Given the description of an element on the screen output the (x, y) to click on. 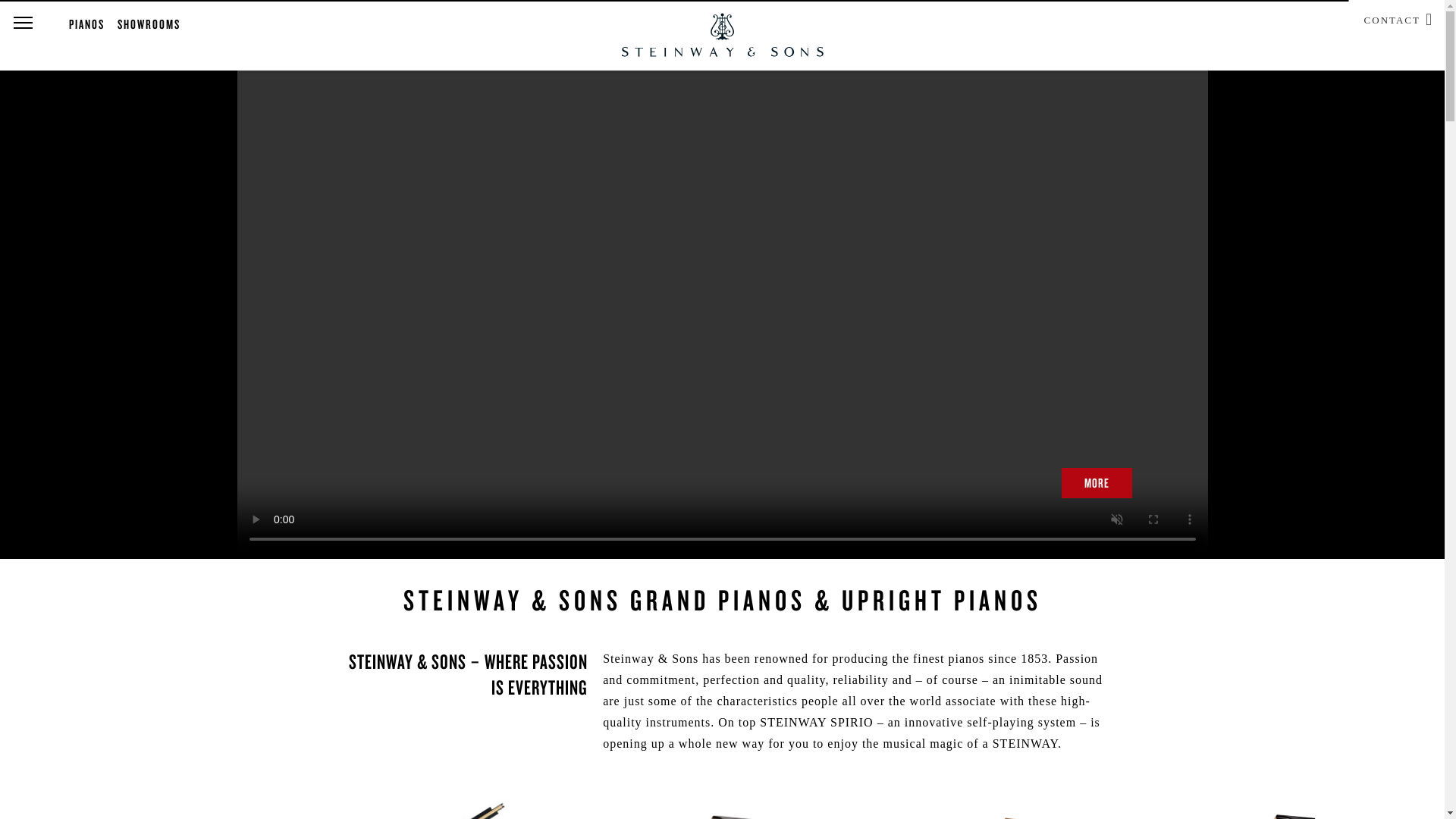
Crown Jewels (1001, 806)
PIANOS (86, 23)
K-132 (180, 805)
C-227 (1275, 805)
SHOWROOMS (148, 23)
D-274 (727, 805)
CONTACT (1392, 18)
